Given the description of an element on the screen output the (x, y) to click on. 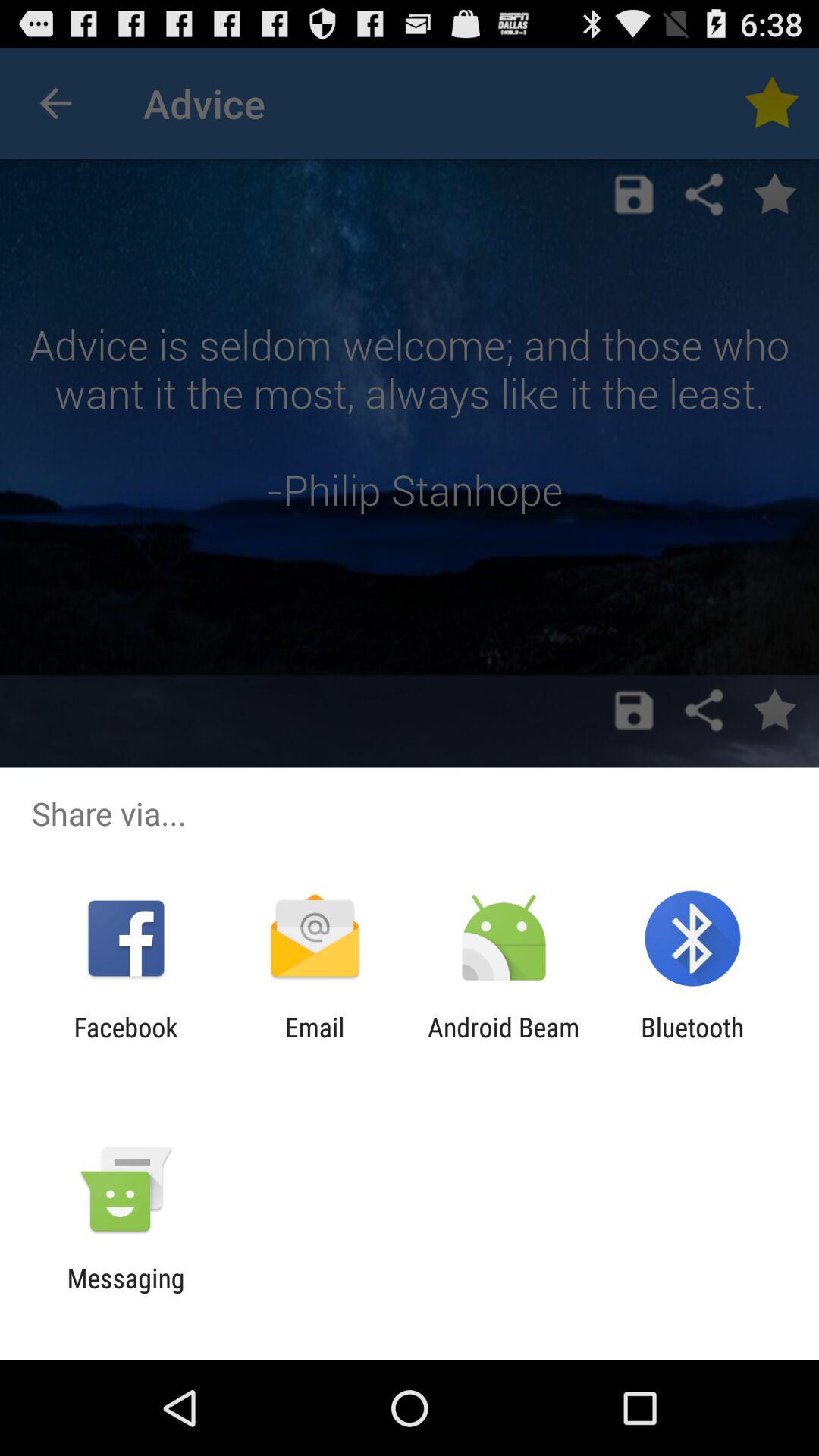
turn off the bluetooth (691, 1042)
